Given the description of an element on the screen output the (x, y) to click on. 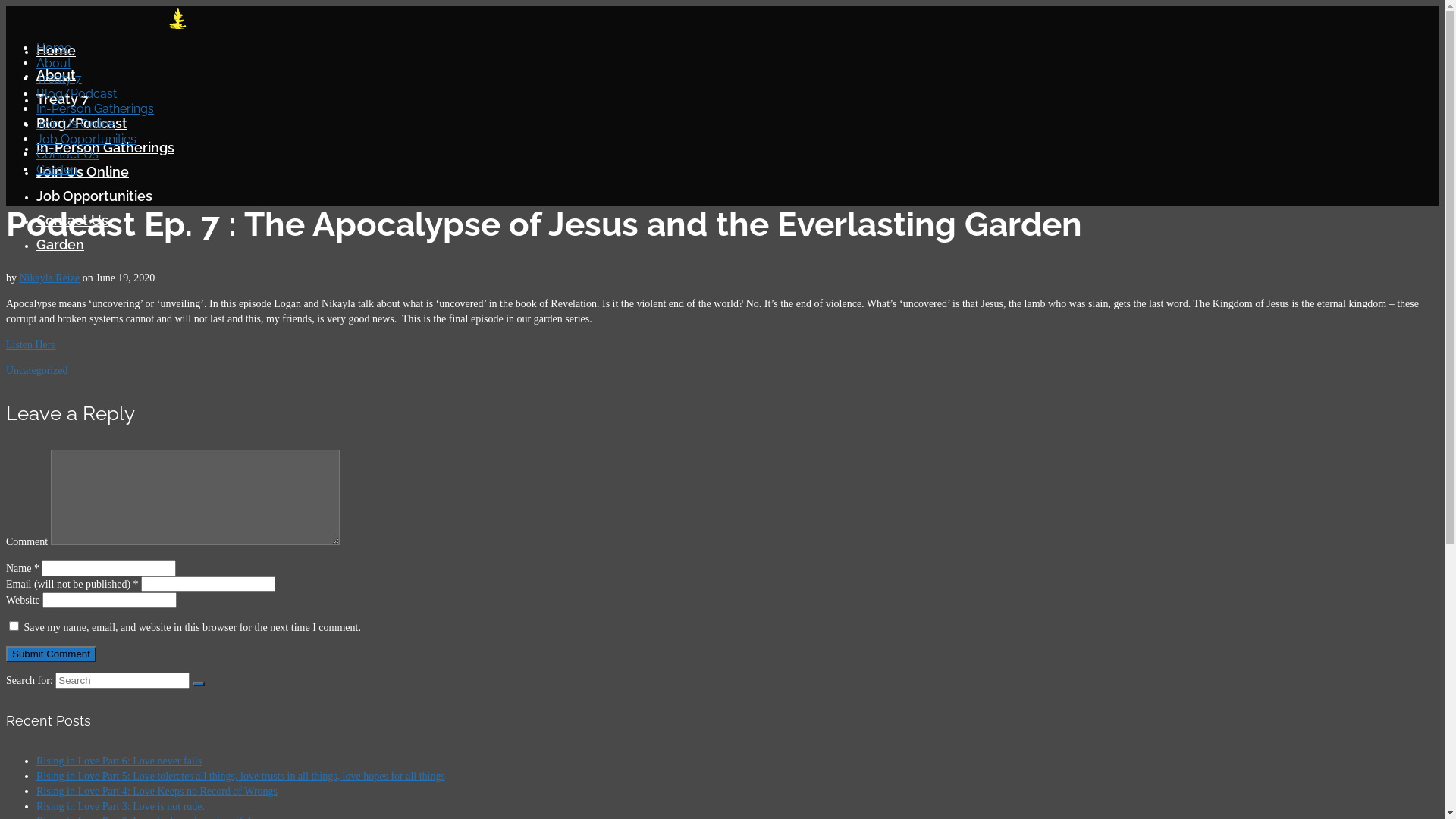
About Element type: text (55, 74)
Join Us Online Element type: text (82, 171)
Garden Element type: text (60, 244)
Listen Here Element type: text (31, 344)
Nikayla Reize Element type: text (49, 277)
About Element type: text (53, 63)
Job Opportunities Element type: text (86, 138)
Job Opportunities Element type: text (94, 195)
In-Person Gatherings Element type: text (105, 147)
Rising in Love Part 3: Love is not rude. Element type: text (120, 806)
Rising in Love Part 6: Love never fails Element type: text (118, 760)
Blog/Podcast Element type: text (76, 93)
Treaty 7 Element type: text (58, 78)
Treaty 7 Element type: text (62, 98)
Contact Us Element type: text (72, 220)
Contact Us Element type: text (67, 154)
In-Person Gatherings Element type: text (94, 108)
Join Us Online Element type: text (75, 123)
Home Element type: text (55, 50)
Blog/Podcast Element type: text (81, 123)
Uncategorized Element type: text (37, 370)
Garden Element type: text (56, 169)
Rising in Love Part 4: Love Keeps no Record of Wrongs Element type: text (156, 791)
Submit Comment Element type: text (51, 654)
Home Element type: text (53, 47)
